Given the description of an element on the screen output the (x, y) to click on. 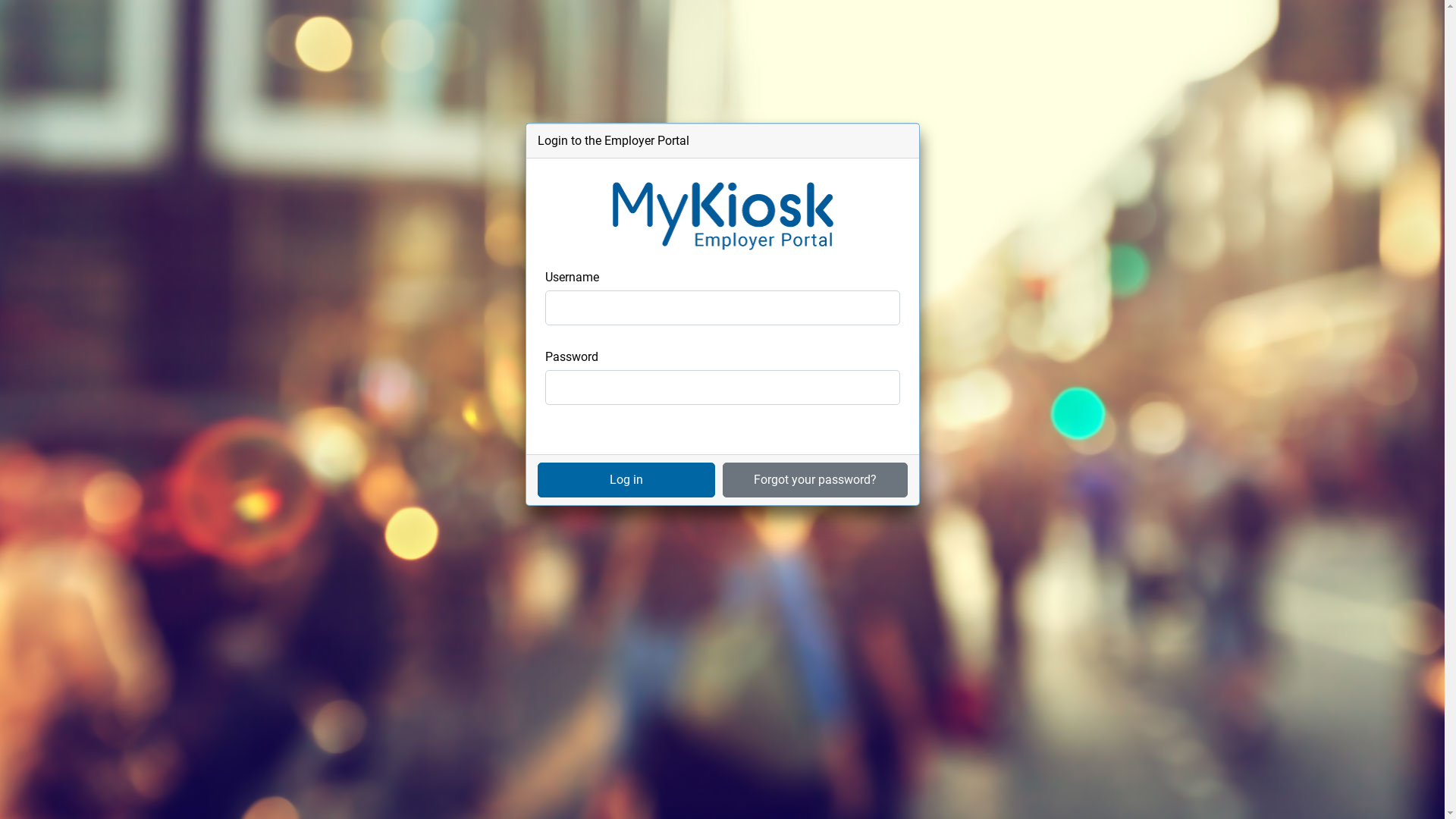
Forgot your password? Element type: text (813, 479)
Log in Element type: text (625, 479)
